Given the description of an element on the screen output the (x, y) to click on. 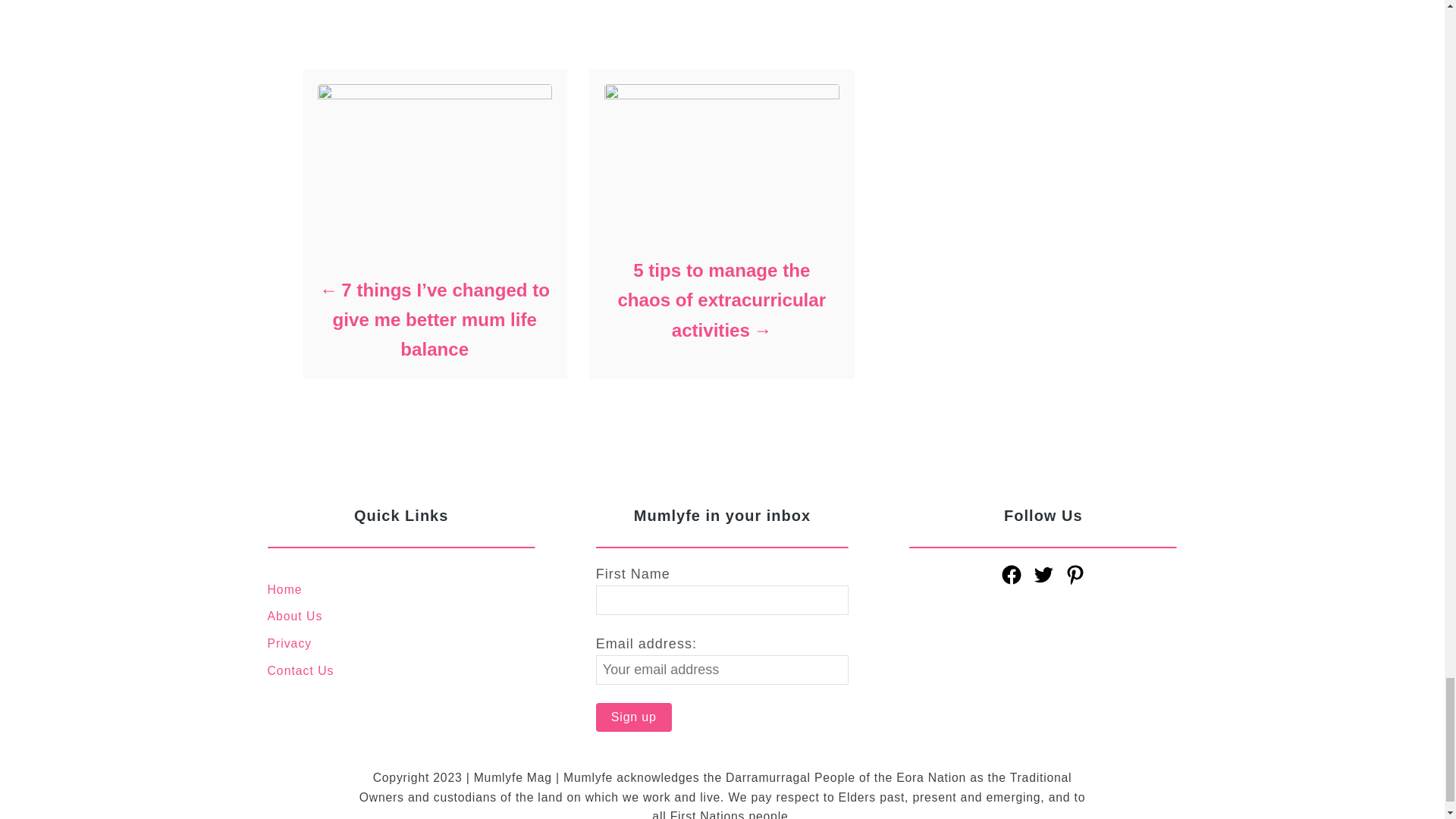
Sign up (633, 717)
